Given the description of an element on the screen output the (x, y) to click on. 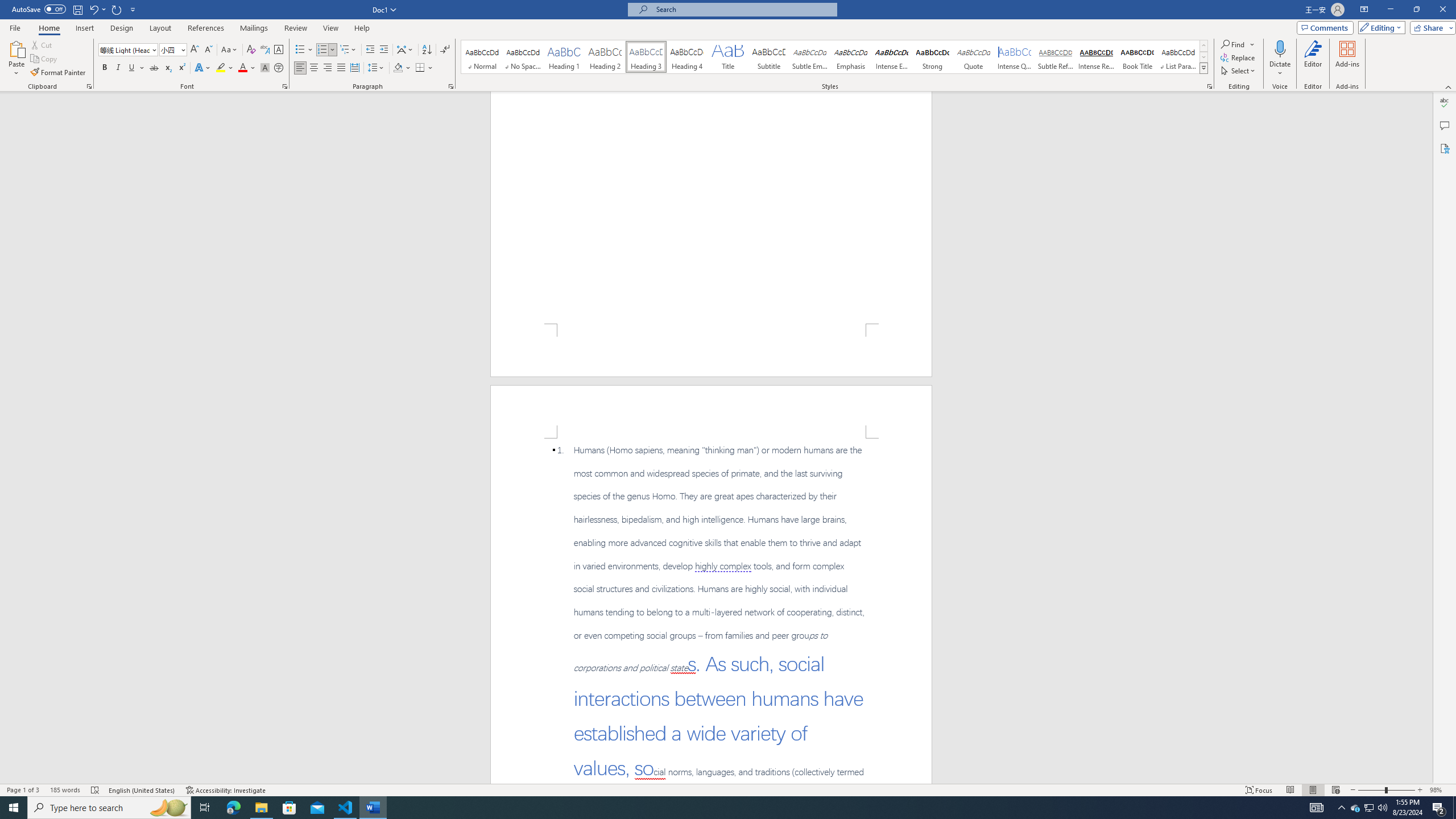
Subtitle (768, 56)
